Given the description of an element on the screen output the (x, y) to click on. 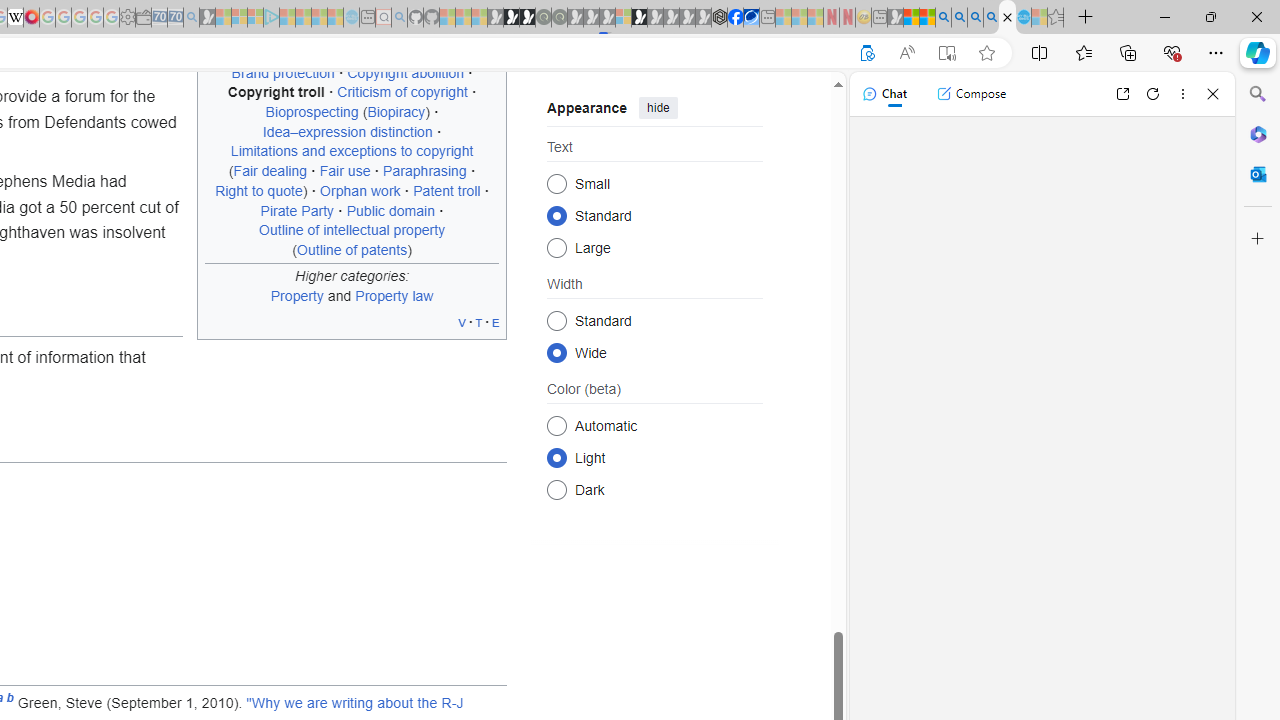
Automatic (556, 425)
(Biopiracy) (396, 111)
Limitations and exceptions to copyright (351, 151)
Read aloud this page (Ctrl+Shift+U) (906, 53)
Favorites - Sleeping (1055, 17)
Settings - Sleeping (127, 17)
Outline of intellectual property (351, 230)
